Given the description of an element on the screen output the (x, y) to click on. 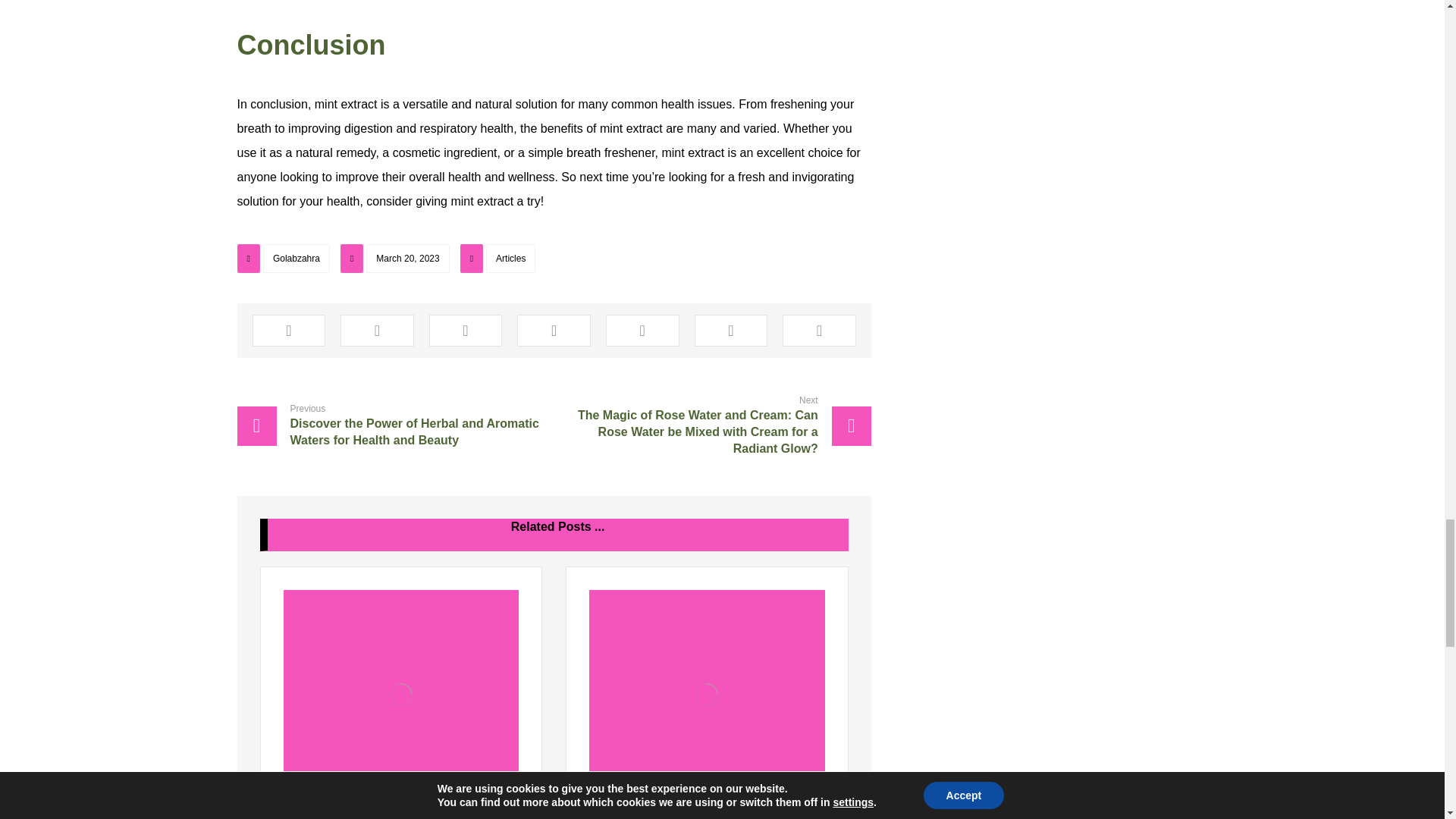
Articles (510, 258)
March 20, 2023 (407, 258)
Published on (396, 262)
Golabzahra (296, 258)
Posted by (283, 262)
